Given the description of an element on the screen output the (x, y) to click on. 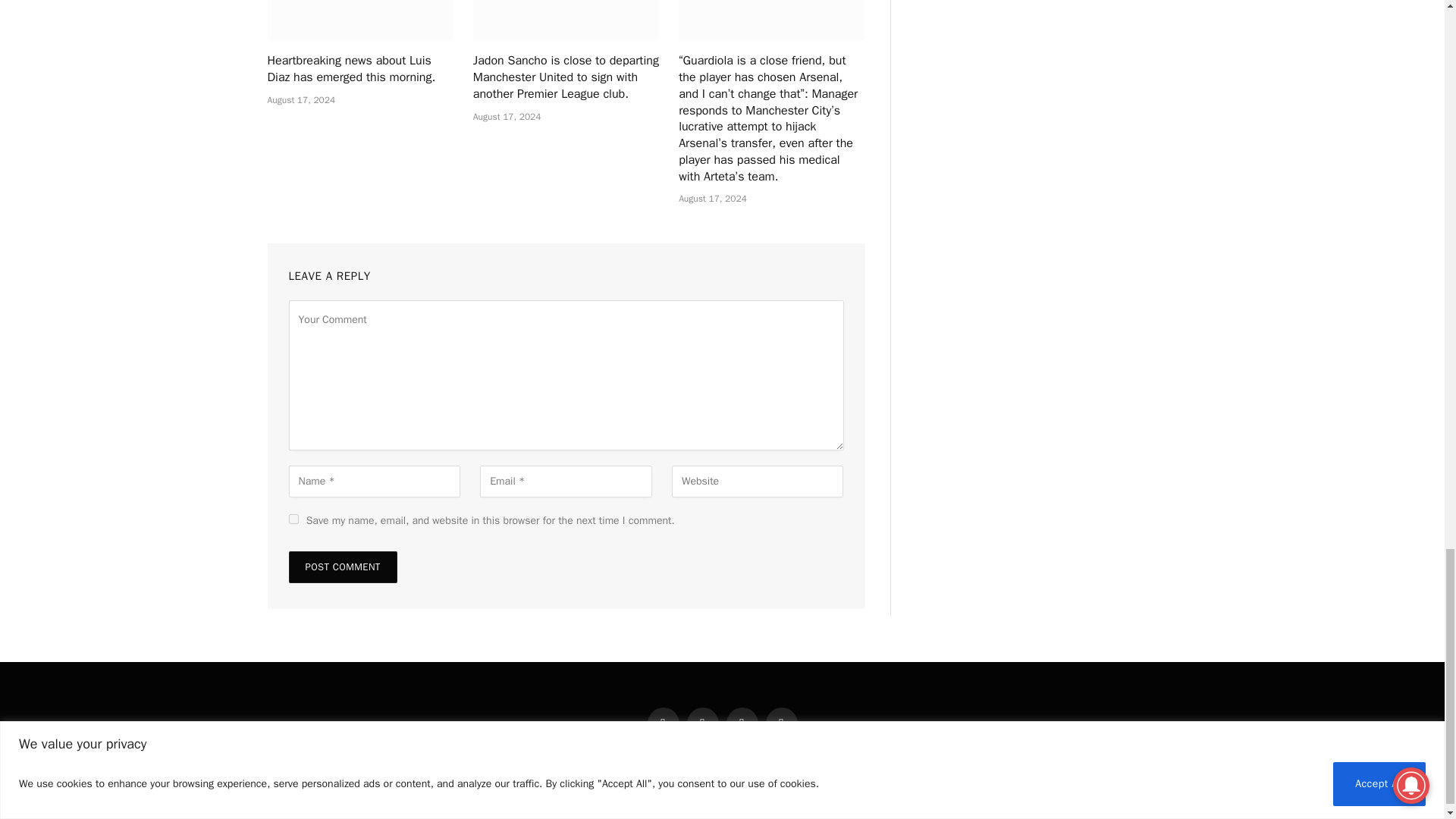
Post Comment (342, 567)
Heartbreaking news about Luis Diaz has emerged this morning. (359, 69)
Heartbreaking news about Luis Diaz has emerged this morning. (359, 20)
yes (293, 519)
